Given the description of an element on the screen output the (x, y) to click on. 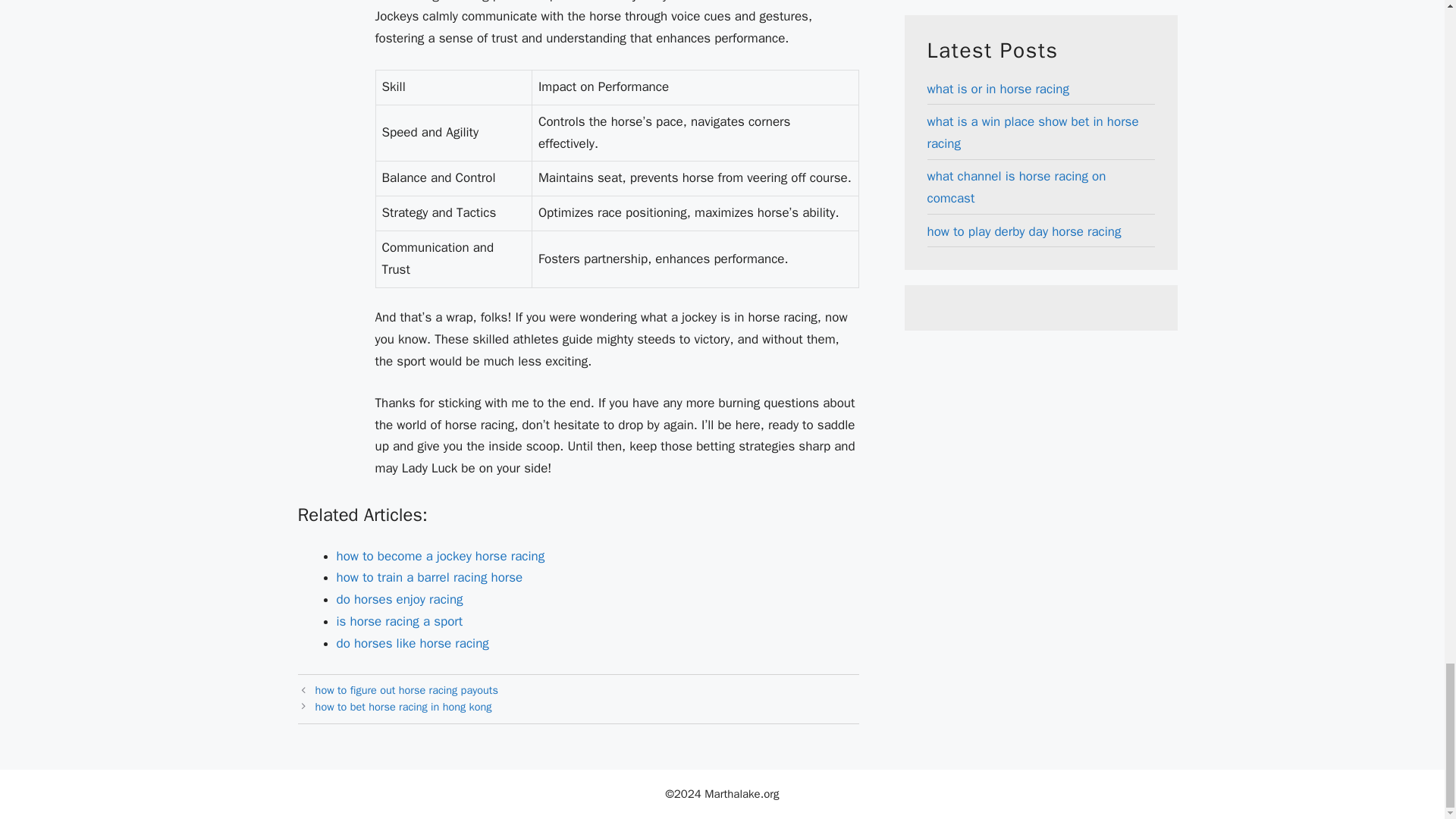
do horses enjoy racing (399, 599)
is horse racing a sport (399, 621)
how to become a jockey horse racing (440, 555)
how to figure out horse racing payouts (406, 689)
how to train a barrel racing horse (429, 577)
how to bet horse racing in hong kong (403, 706)
do horses like horse racing (412, 643)
